Given the description of an element on the screen output the (x, y) to click on. 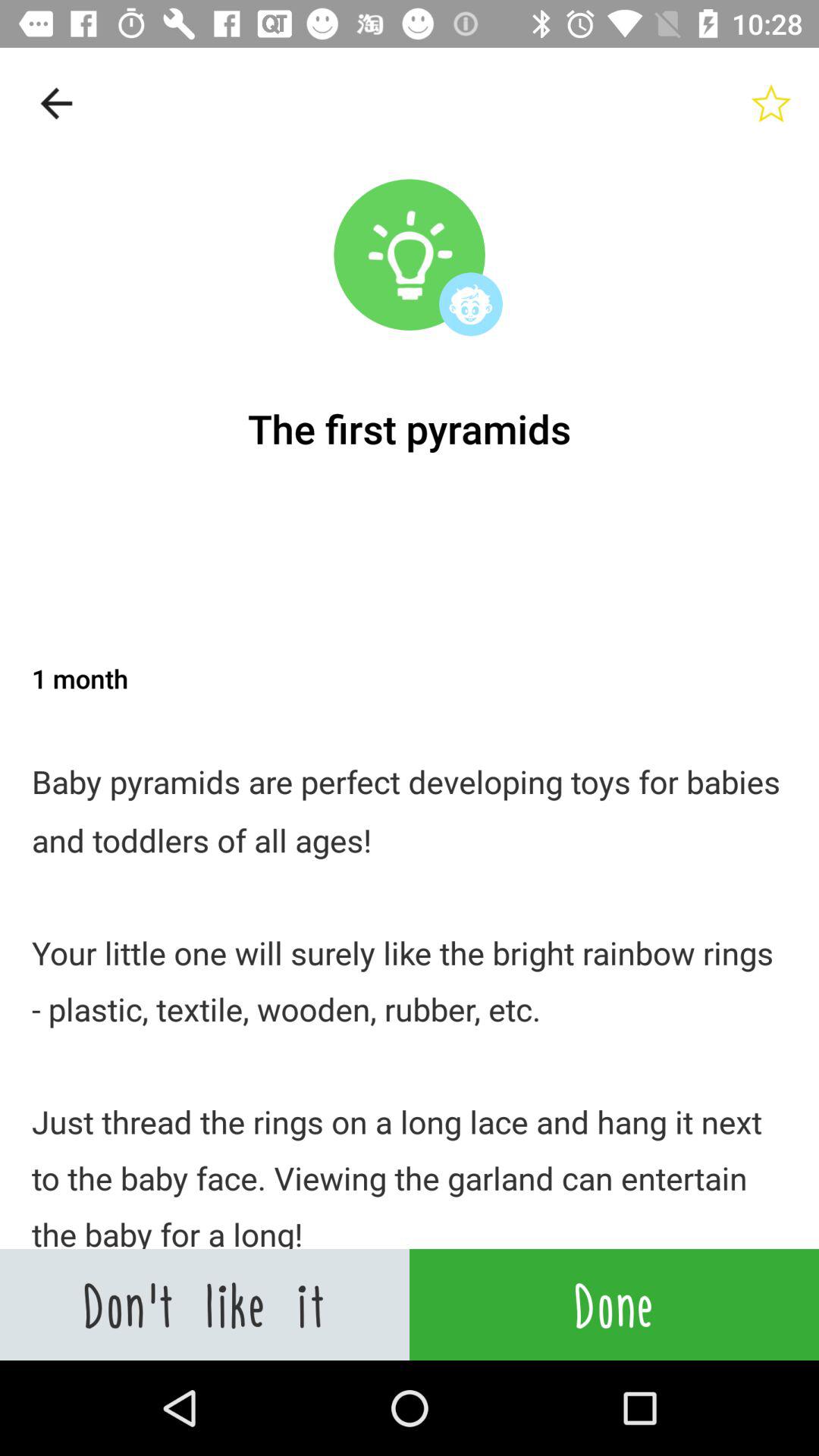
mark article as favorite (771, 103)
